Given the description of an element on the screen output the (x, y) to click on. 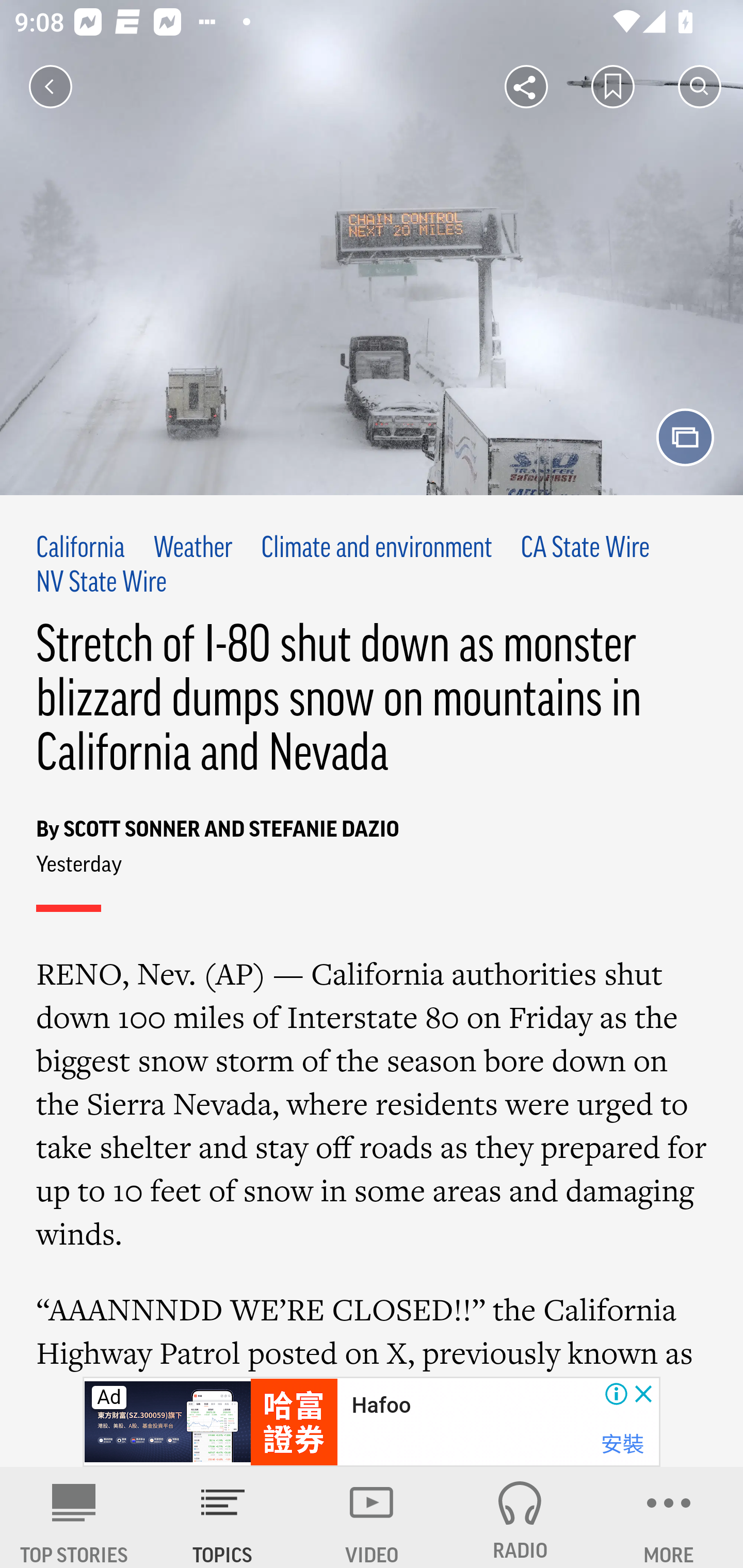
California (81, 549)
Weather (191, 549)
Climate and environment (376, 549)
CA State Wire (585, 549)
NV State Wire (101, 584)
Hafoo (381, 1405)
安裝 (621, 1444)
AP News TOP STORIES (74, 1517)
TOPICS (222, 1517)
VIDEO (371, 1517)
RADIO (519, 1517)
MORE (668, 1517)
